Given the description of an element on the screen output the (x, y) to click on. 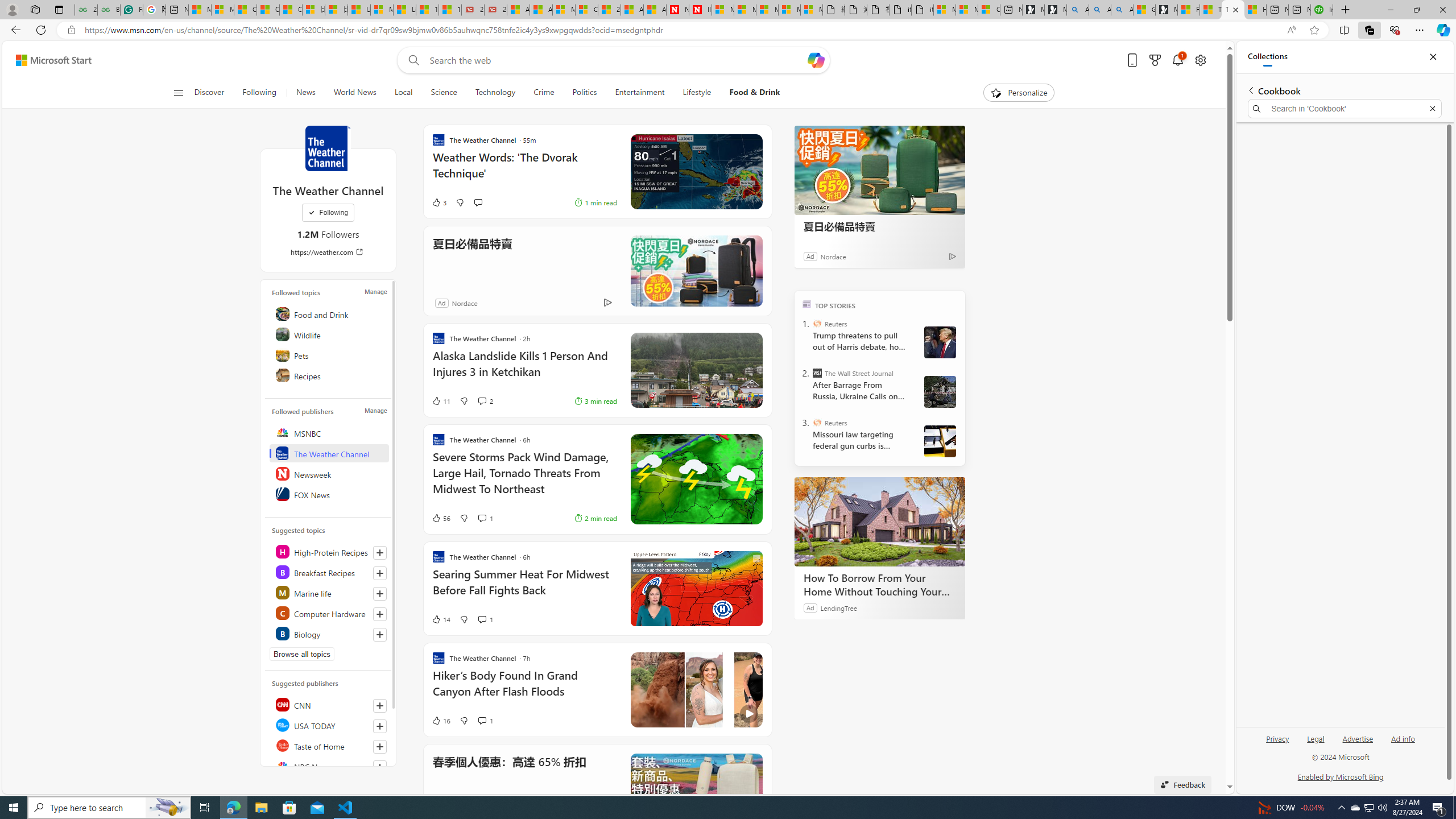
Best SSL Certificates Provider in India - GeeksforGeeks (109, 9)
15 Ways Modern Life Contradicts the Teachings of Jesus (449, 9)
Intuit QuickBooks Online - Quickbooks (1322, 9)
Wildlife (328, 334)
